Given the description of an element on the screen output the (x, y) to click on. 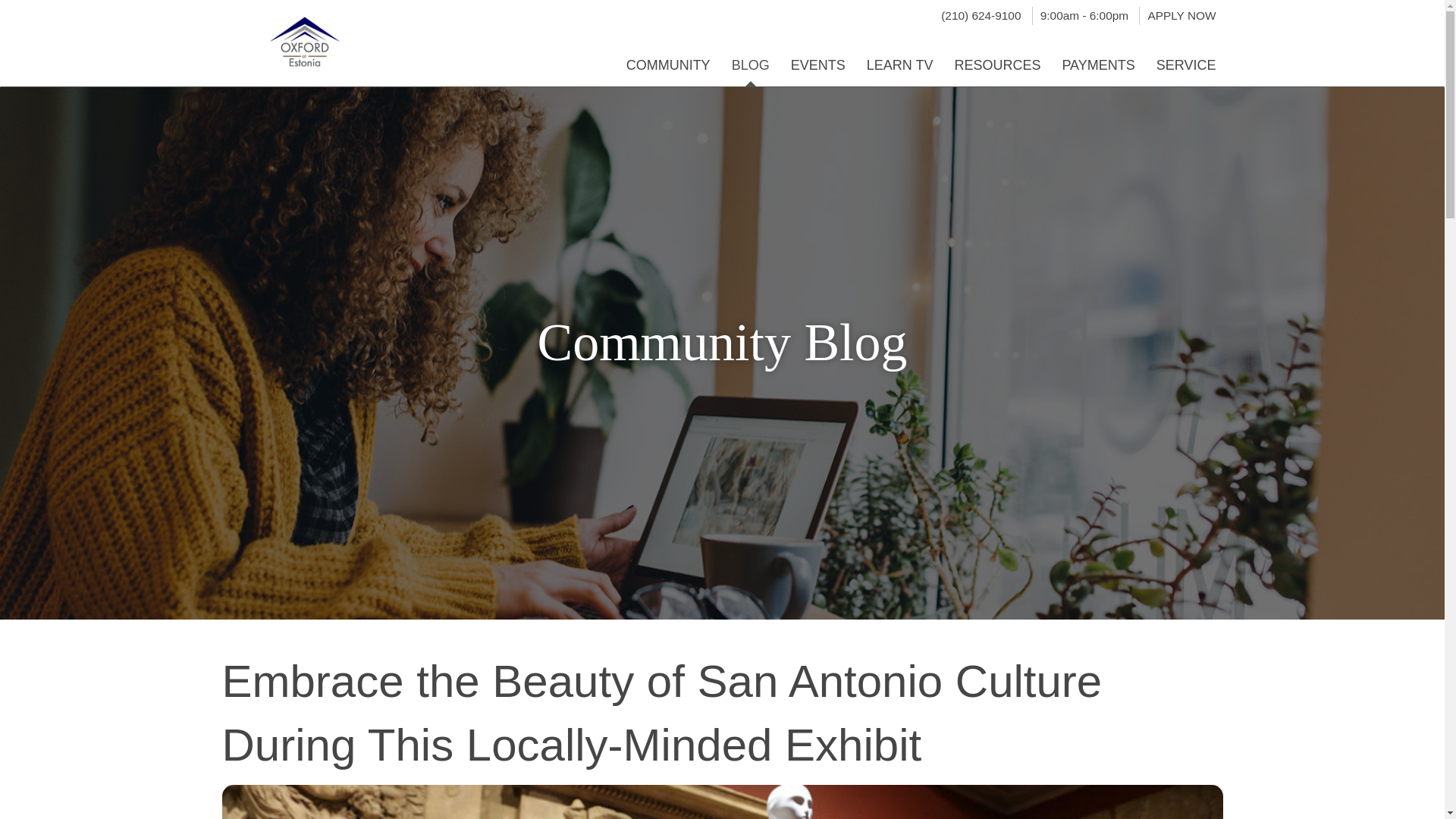
APPLY NOW (1181, 15)
LEARN TV (899, 58)
EVENTS (818, 58)
RESOURCES (997, 58)
BLOG (750, 58)
COMMUNITY (667, 58)
SERVICE (1186, 58)
PAYMENTS (1097, 58)
